Given the description of an element on the screen output the (x, y) to click on. 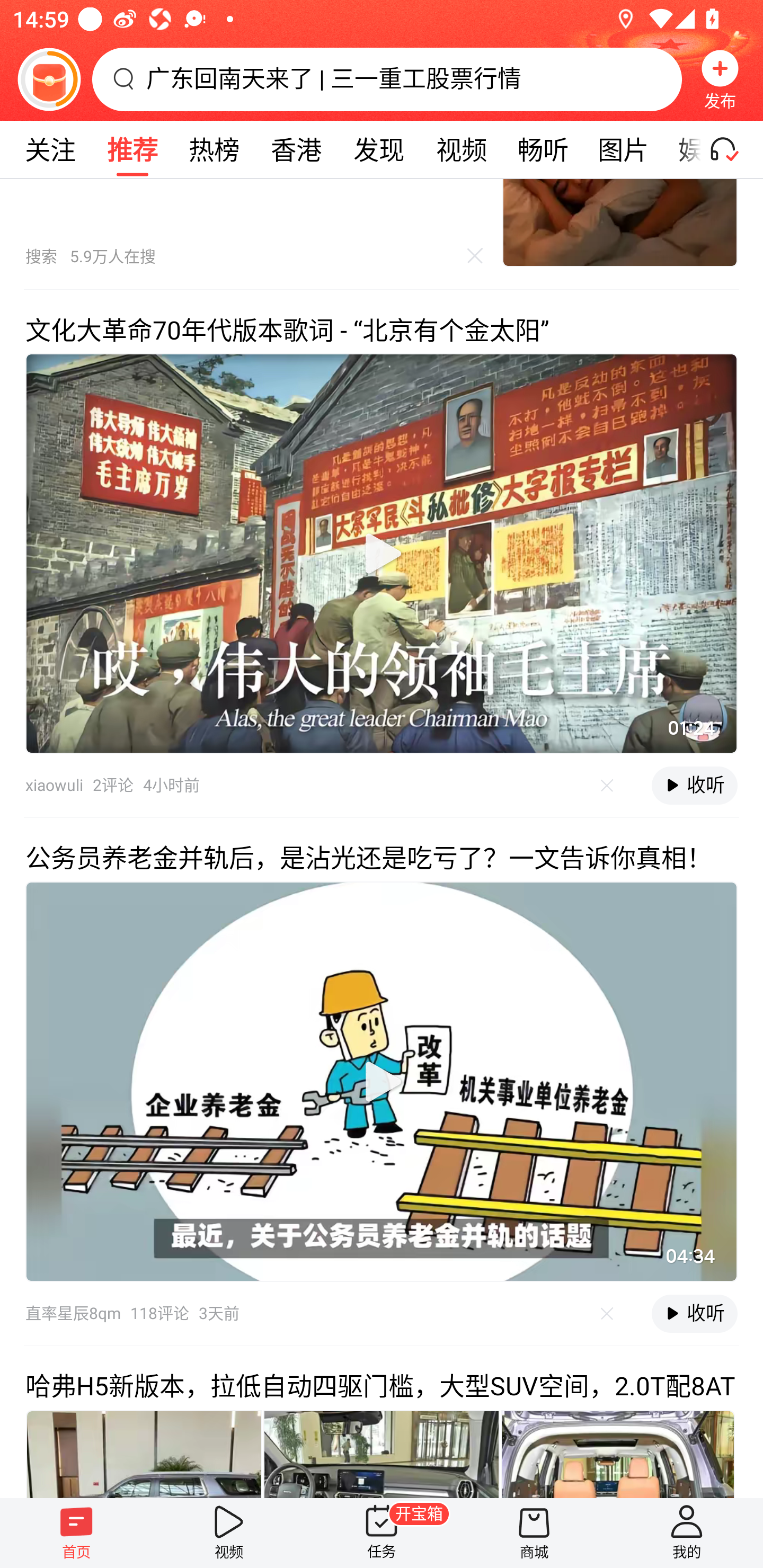
阅读赚金币 (48, 79)
广东回南天来了 | 三一重工股票行情 搜索框，广东回南天来了 | 三一重工股票行情 (387, 79)
发布 发布，按钮 (720, 78)
关注 (50, 149)
推荐 (132, 149)
热榜 (213, 149)
香港 (295, 149)
发现 (378, 149)
视频 (461, 149)
畅听 (542, 149)
图片 (623, 149)
听一听开关 (732, 149)
播放视频 视频播放器，双击屏幕打开播放控制 (381, 553)
播放视频 (381, 553)
收听 (694, 785)
不感兴趣 (607, 785)
播放视频 视频播放器，双击屏幕打开播放控制 (381, 1081)
播放视频 (381, 1081)
收听 (694, 1313)
不感兴趣 (607, 1313)
首页 (76, 1532)
视频 (228, 1532)
任务 开宝箱 (381, 1532)
商城 (533, 1532)
我的 (686, 1532)
